Given the description of an element on the screen output the (x, y) to click on. 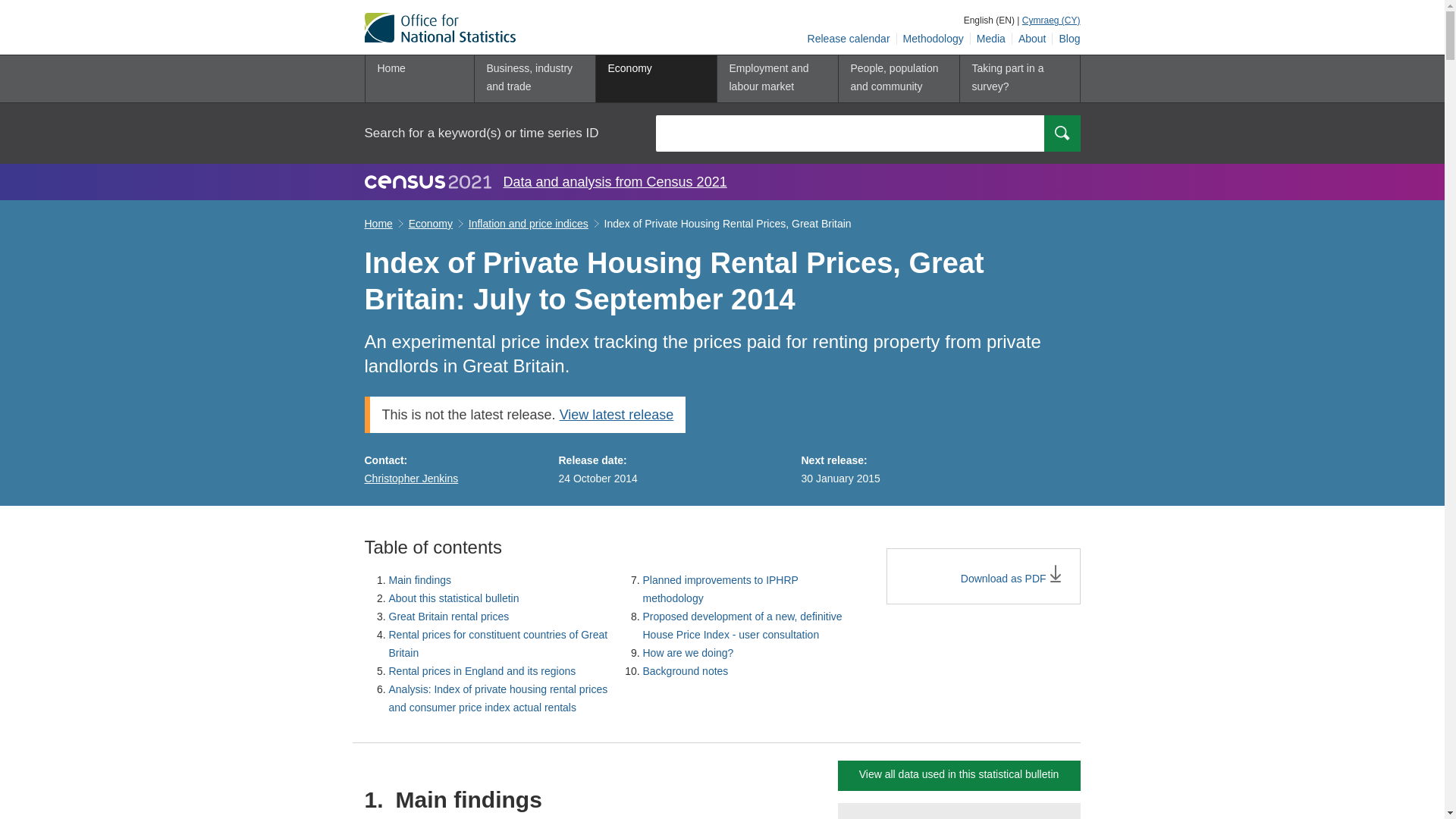
Rental prices for constituent countries of Great Britain (497, 643)
Planned improvements to IPHRP methodology (720, 589)
Main findings (419, 580)
Economy (655, 78)
How are we doing? (688, 653)
About (1031, 38)
About this statistical bulletin (453, 598)
Methodology (933, 38)
Rental prices in England and its regions (481, 671)
